Given the description of an element on the screen output the (x, y) to click on. 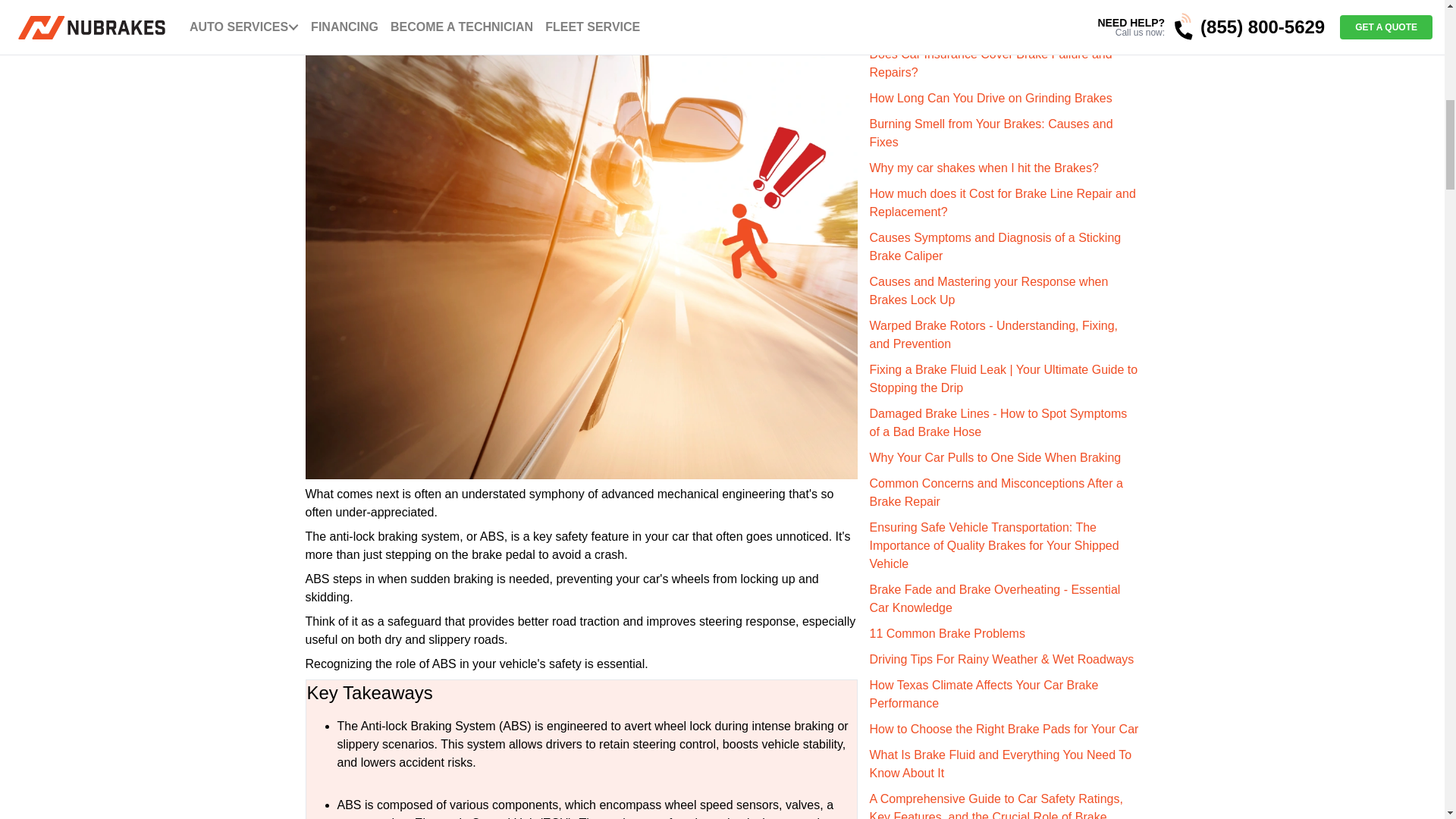
Why Your Car Pulls to One Side When Braking (995, 457)
Burning Smell from Your Brakes: Causes and Fixes (990, 132)
How Long Can You Drive on Grinding Brakes (990, 97)
Causes and Mastering your Response when Brakes Lock Up (988, 290)
Causes Symptoms and Diagnosis of a Sticking Brake Caliper (995, 246)
Why my car shakes when I hit the Brakes? (983, 167)
Does Car Insurance Cover Brake Failure and Repairs? (990, 62)
Warped Brake Rotors - Understanding, Fixing, and Prevention (993, 334)
How much does it Cost for Brake Line Repair and Replacement? (1002, 202)
